Given the description of an element on the screen output the (x, y) to click on. 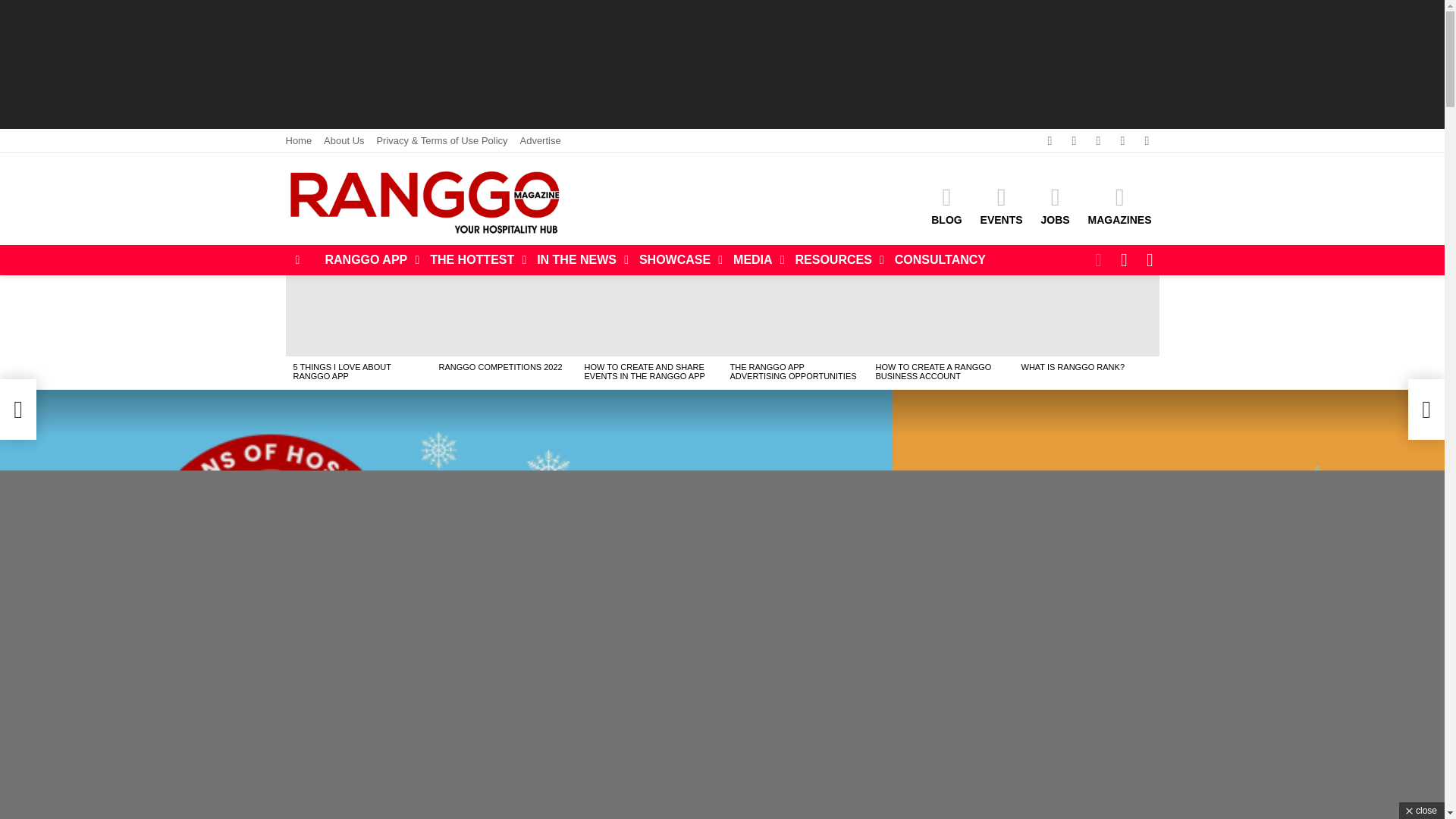
What is RANGGO Rank? (1085, 316)
facebook (1048, 140)
BLOG (946, 205)
IN THE NEWS (578, 259)
linkedin (1121, 140)
JOBS (1054, 205)
twitter (1073, 140)
Advertise (539, 140)
Menu (296, 259)
How to create a RANGGO Business Account (940, 316)
About Us (343, 140)
EVENTS (1001, 205)
RANGGO APP (368, 259)
youtube (1146, 140)
MAGAZINES (1119, 205)
